Given the description of an element on the screen output the (x, y) to click on. 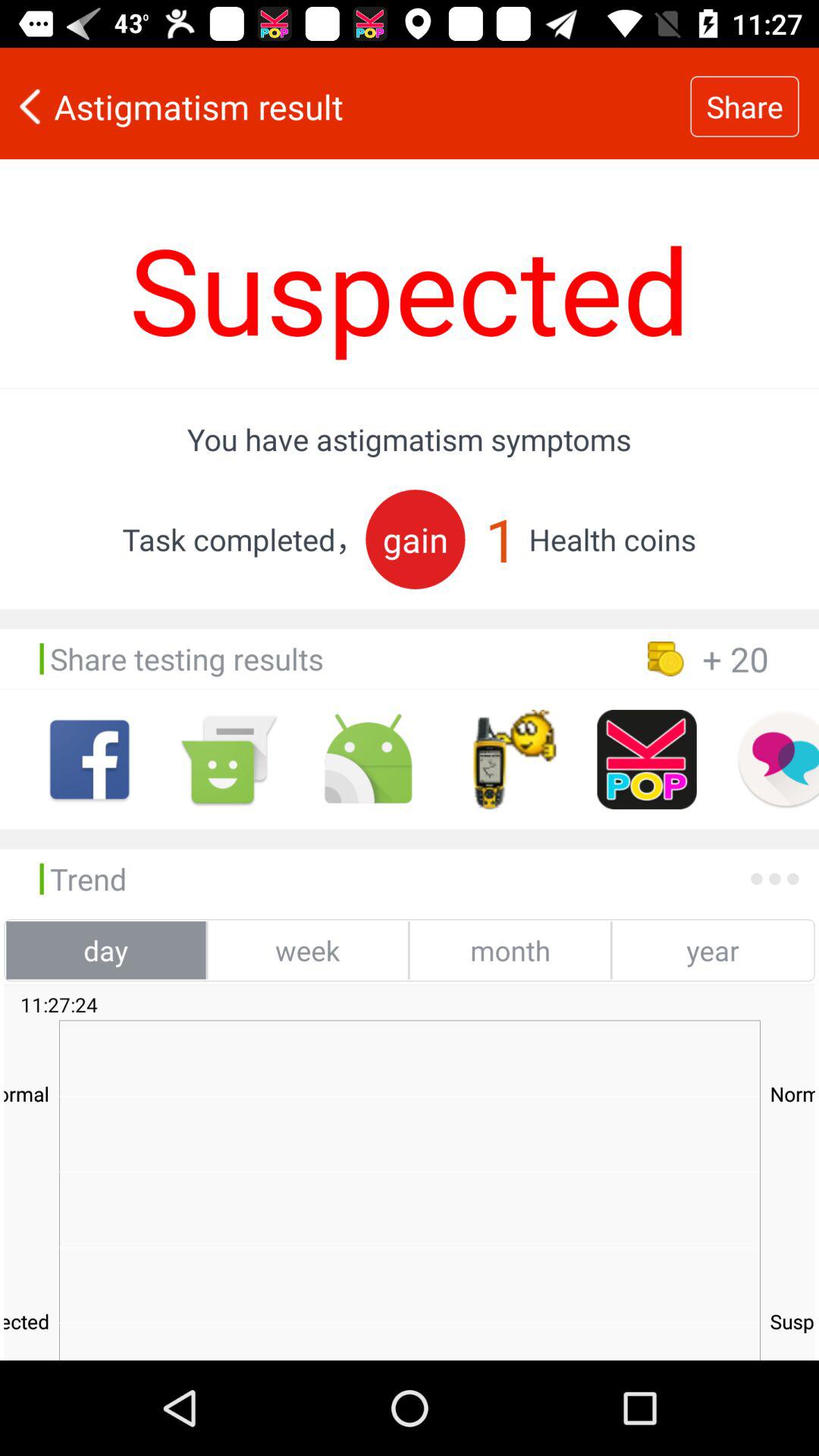
click the day (105, 950)
